Given the description of an element on the screen output the (x, y) to click on. 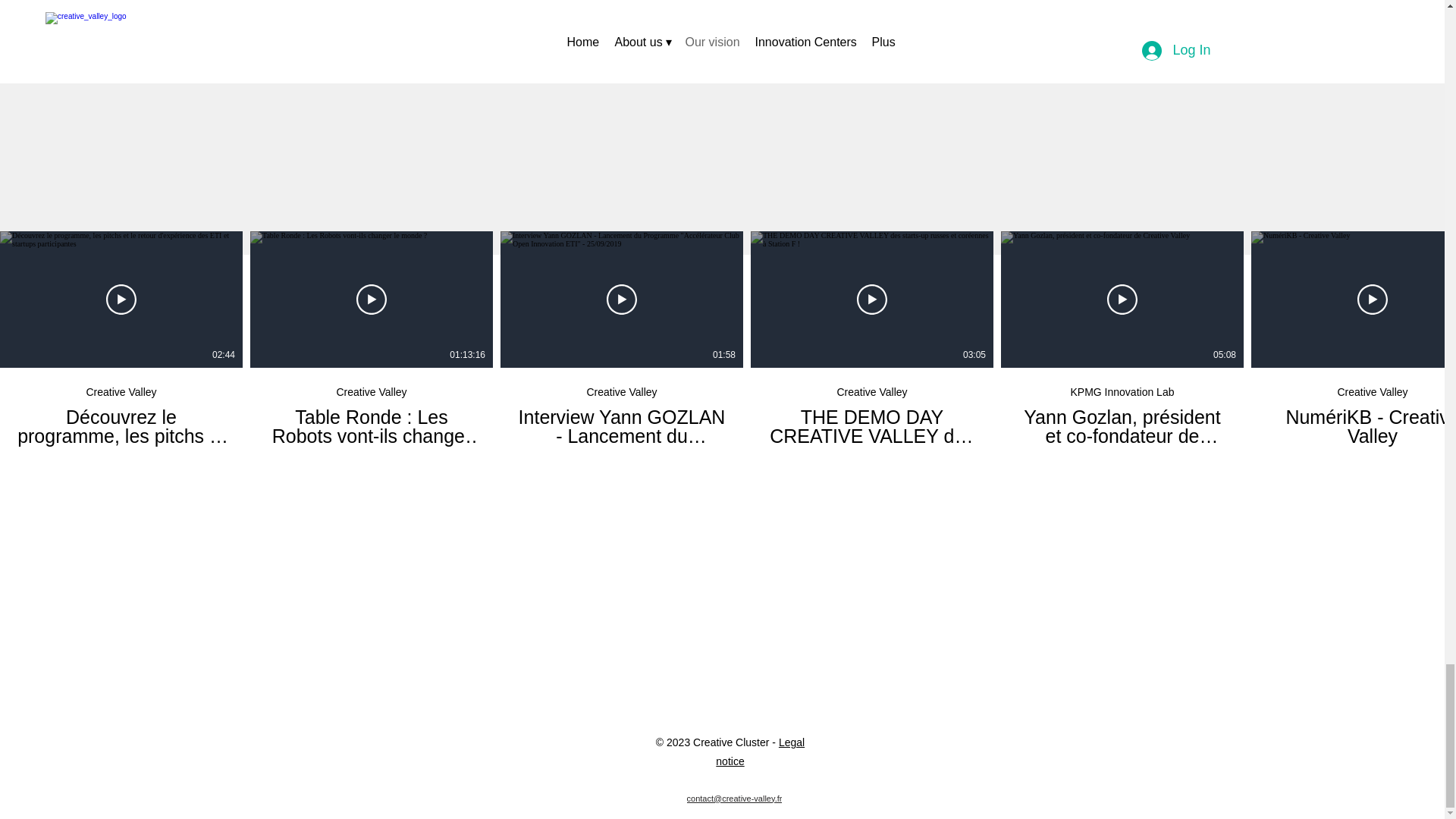
Legal notice (760, 751)
Table Ronde : Les Robots vont-ils changer le monde ? (370, 426)
